Given the description of an element on the screen output the (x, y) to click on. 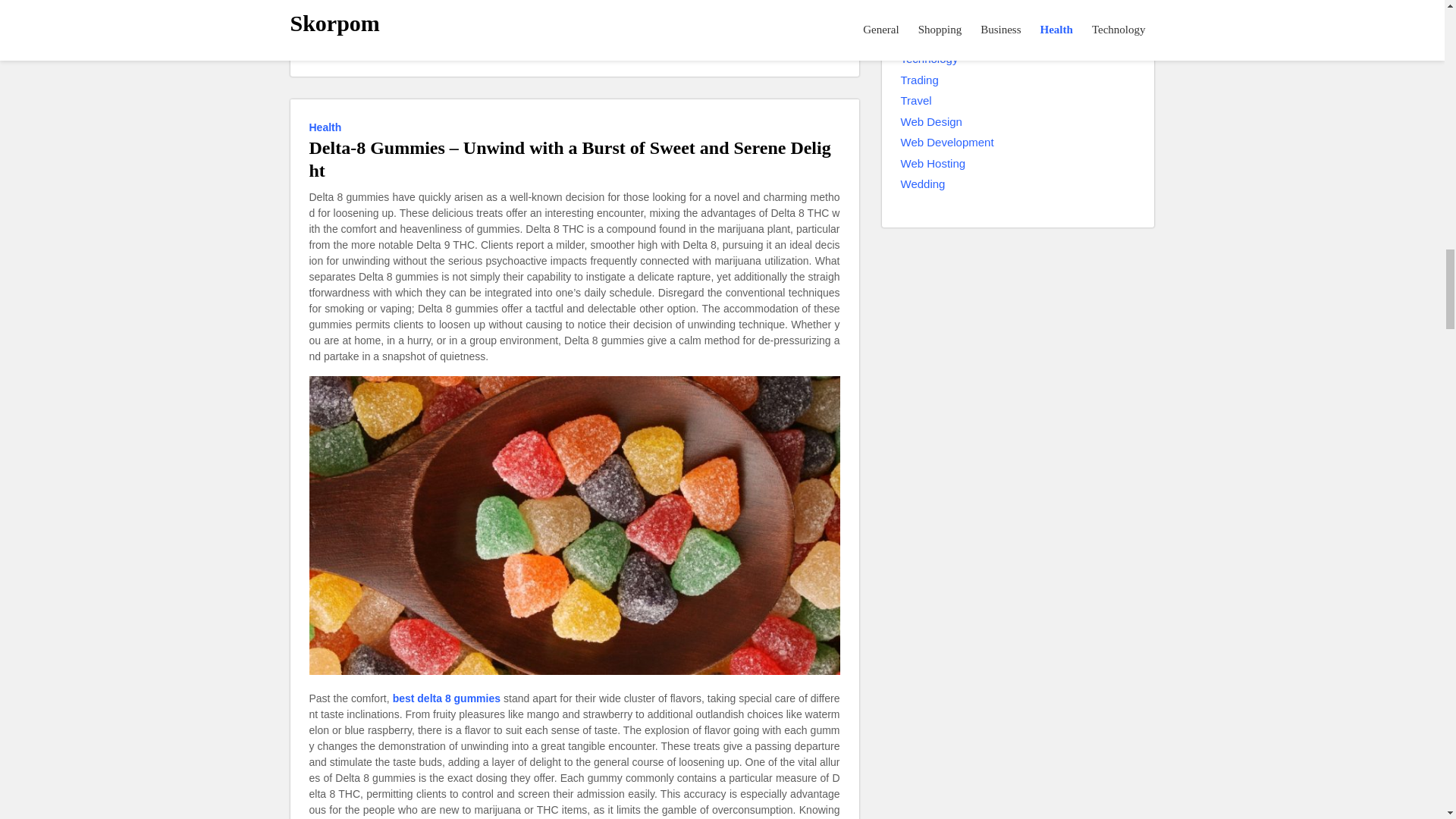
Health (327, 126)
admin (346, 50)
April 23, 2024 (413, 51)
best delta 8 gummies (446, 698)
